Given the description of an element on the screen output the (x, y) to click on. 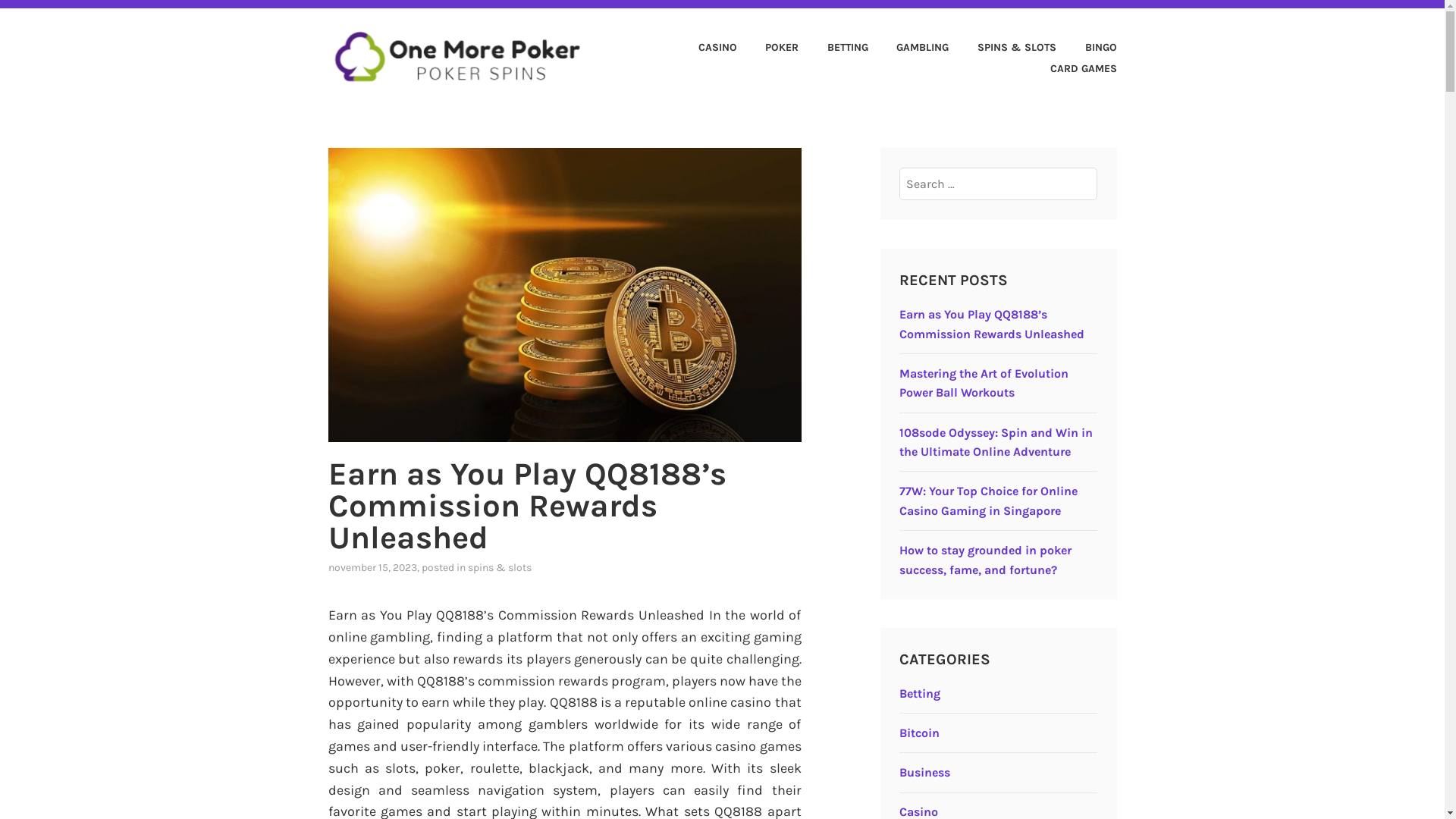
BETTING Element type: text (834, 48)
CASINO Element type: text (704, 48)
spins & slots Element type: text (498, 567)
SPINS & SLOTS Element type: text (1003, 48)
77W: Your Top Choice for Online Casino Gaming in Singapore Element type: text (988, 500)
Search Element type: text (45, 17)
Bitcoin Element type: text (919, 732)
ONE MORE-POKER Element type: text (464, 105)
POKER Element type: text (769, 48)
GAMBLING Element type: text (910, 48)
Business Element type: text (924, 772)
BINGO Element type: text (1088, 48)
Mastering the Art of Evolution Power Ball Workouts Element type: text (983, 383)
How to stay grounded in poker success, fame, and fortune? Element type: text (985, 559)
CARD GAMES Element type: text (1070, 69)
november 15, 2023 Element type: text (371, 567)
Betting Element type: text (919, 693)
